Given the description of an element on the screen output the (x, y) to click on. 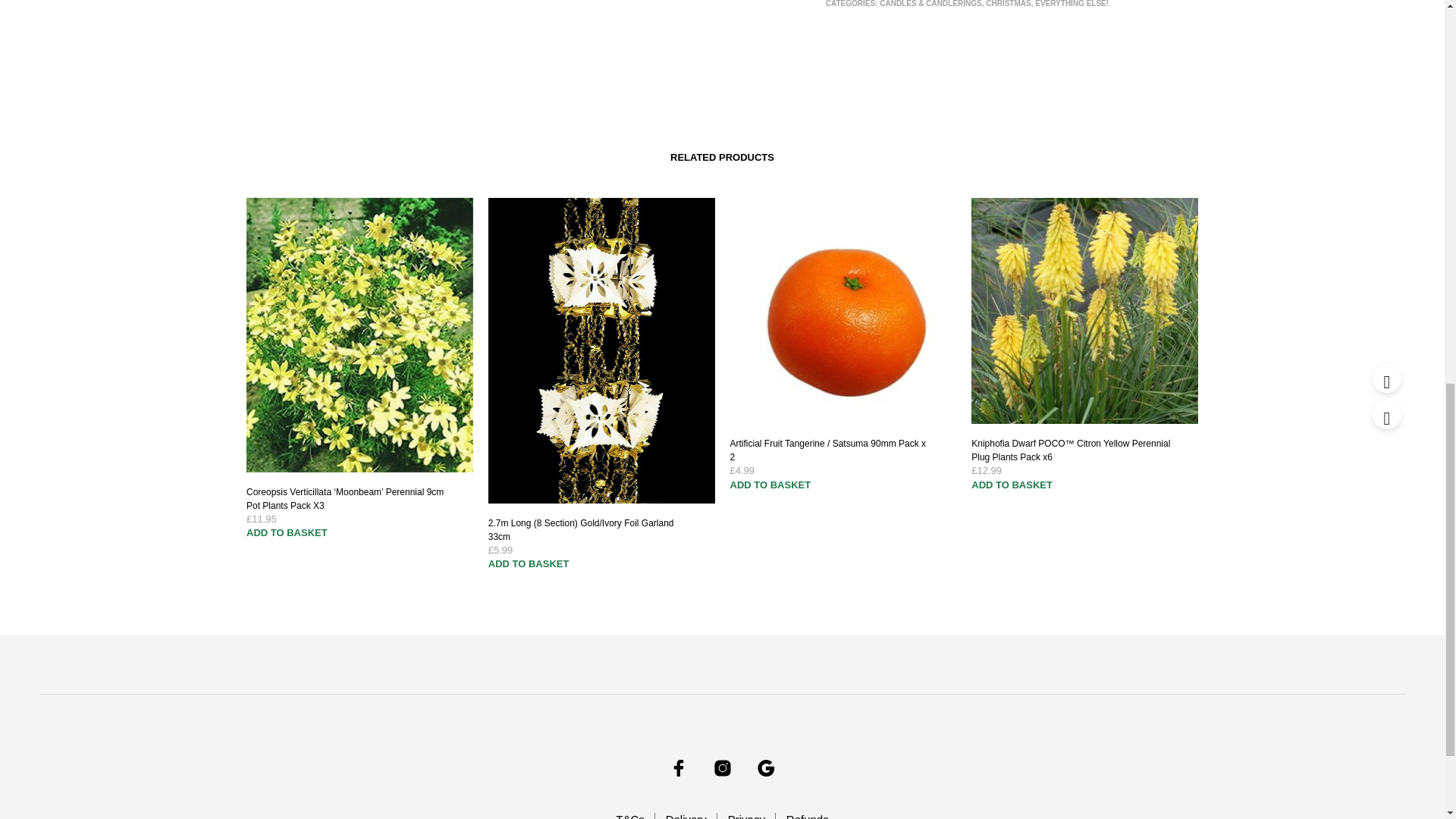
ADD TO BASKET (286, 531)
ADD TO BASKET (1011, 483)
ADD TO BASKET (769, 483)
EVERYTHING ELSE! (1071, 3)
CHRISTMAS (1007, 3)
ADD TO BASKET (528, 563)
